Given the description of an element on the screen output the (x, y) to click on. 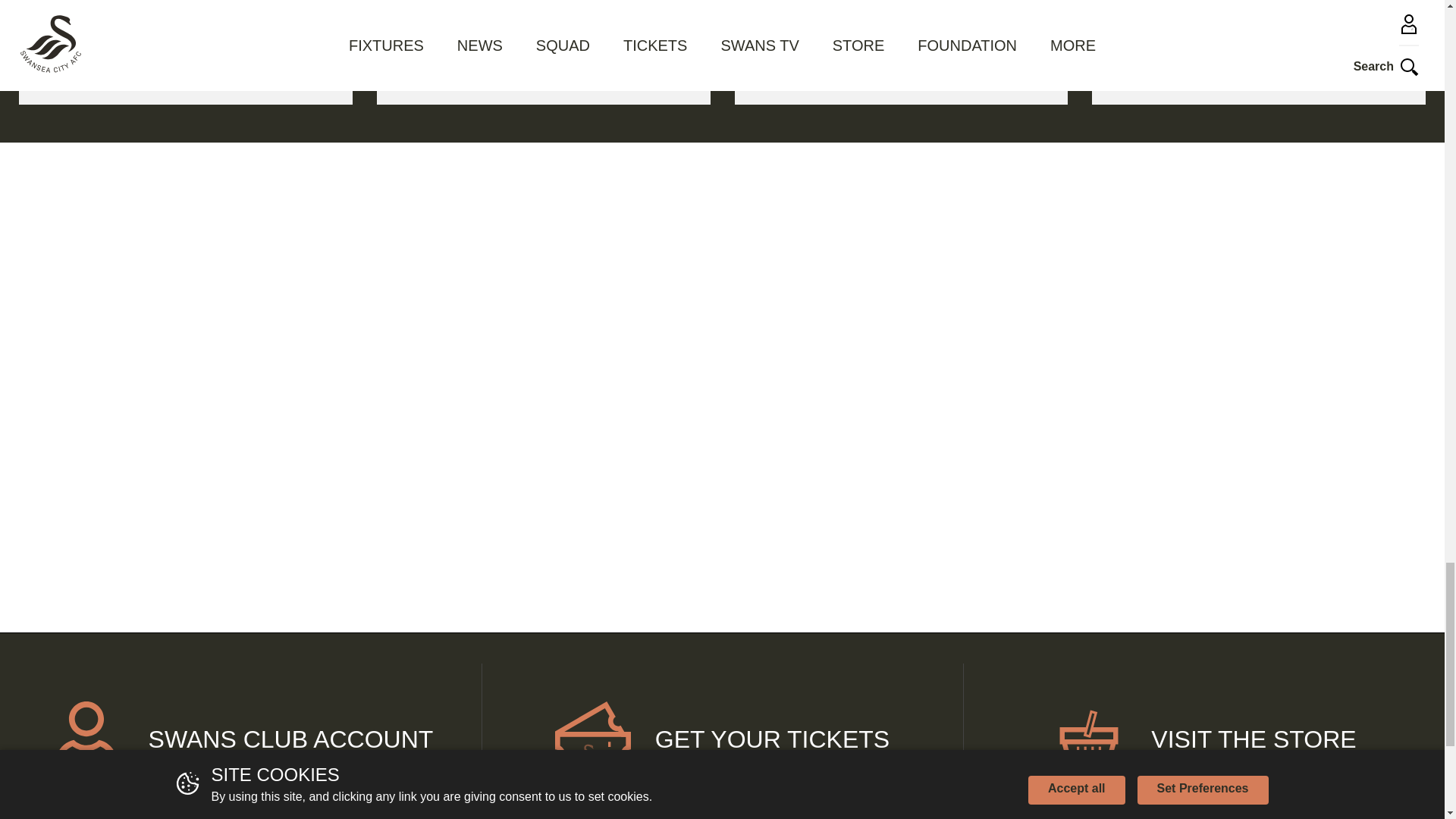
3rd party ad content (721, 248)
3rd party ad content (1085, 462)
3rd party ad content (721, 462)
3rd party ad content (357, 462)
Sign up or log into Swans Club Account (240, 738)
3rd party ad content (357, 248)
3rd party ad content (1085, 248)
